Given the description of an element on the screen output the (x, y) to click on. 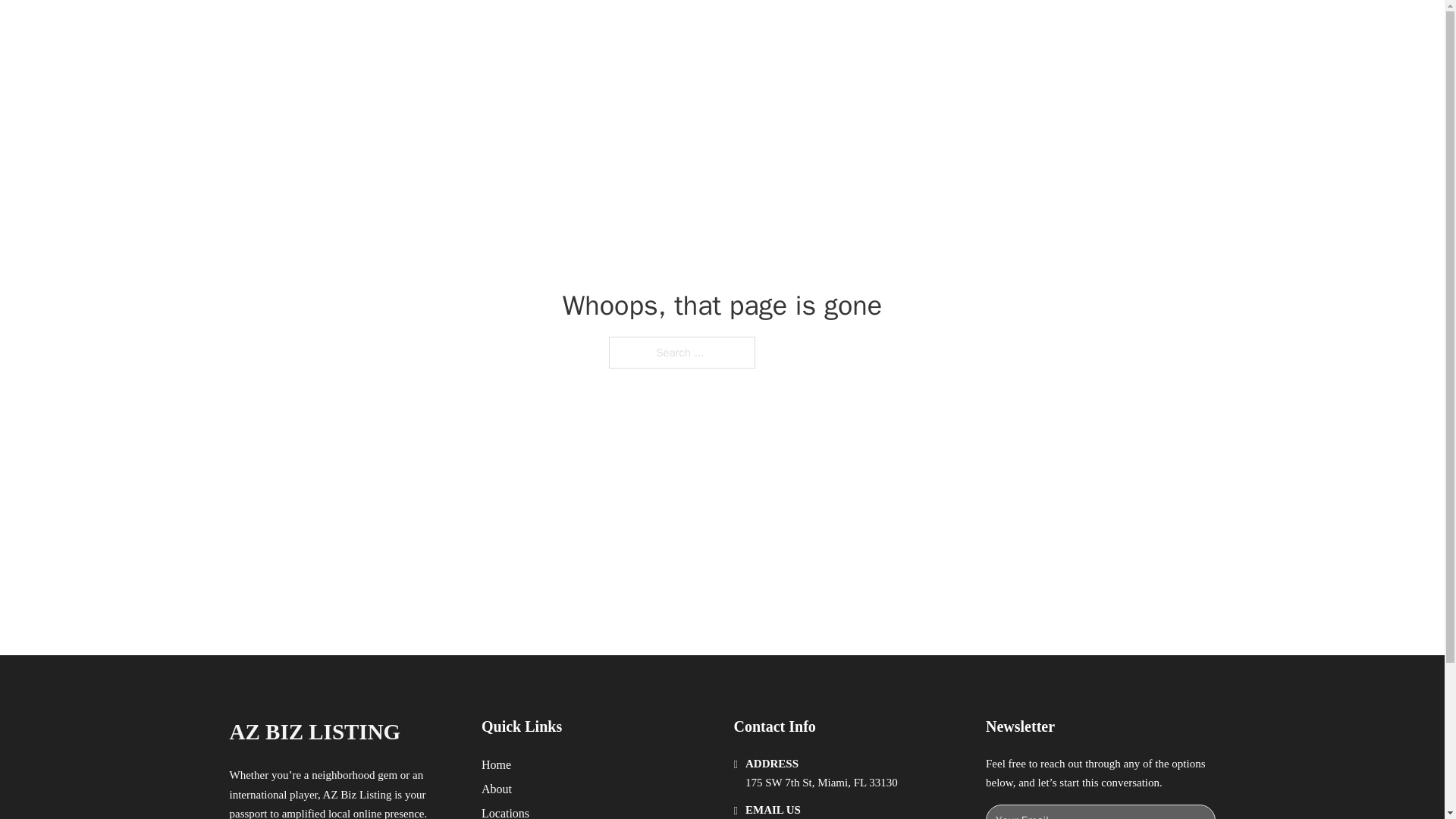
LOCATIONS (990, 29)
AZ BIZ LISTING (314, 732)
Home (496, 764)
AZ BIZ LISTING (387, 28)
HOME (919, 29)
Locations (505, 811)
About (496, 788)
